Given the description of an element on the screen output the (x, y) to click on. 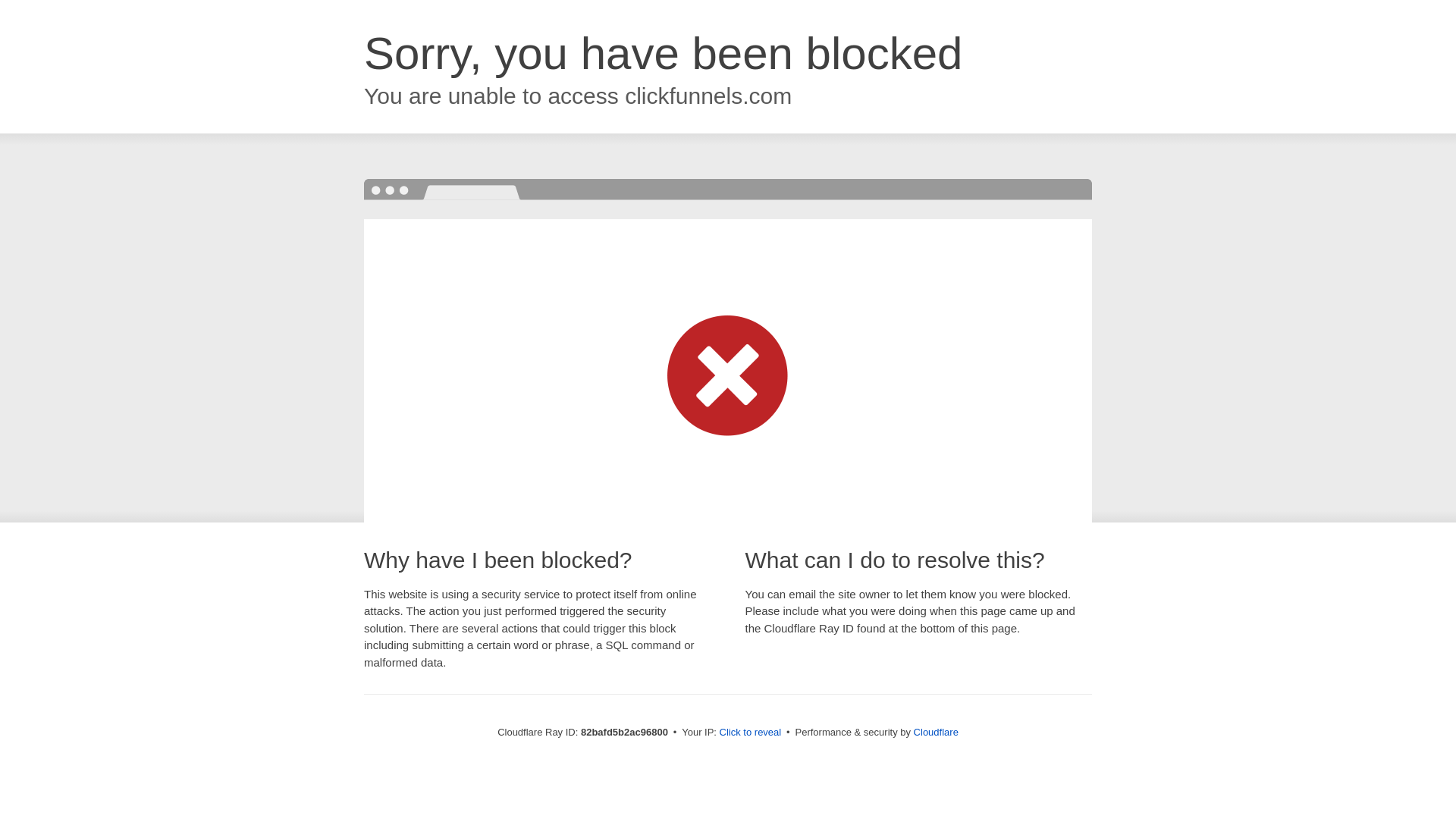
Click to reveal Element type: text (750, 732)
Cloudflare Element type: text (935, 731)
